Given the description of an element on the screen output the (x, y) to click on. 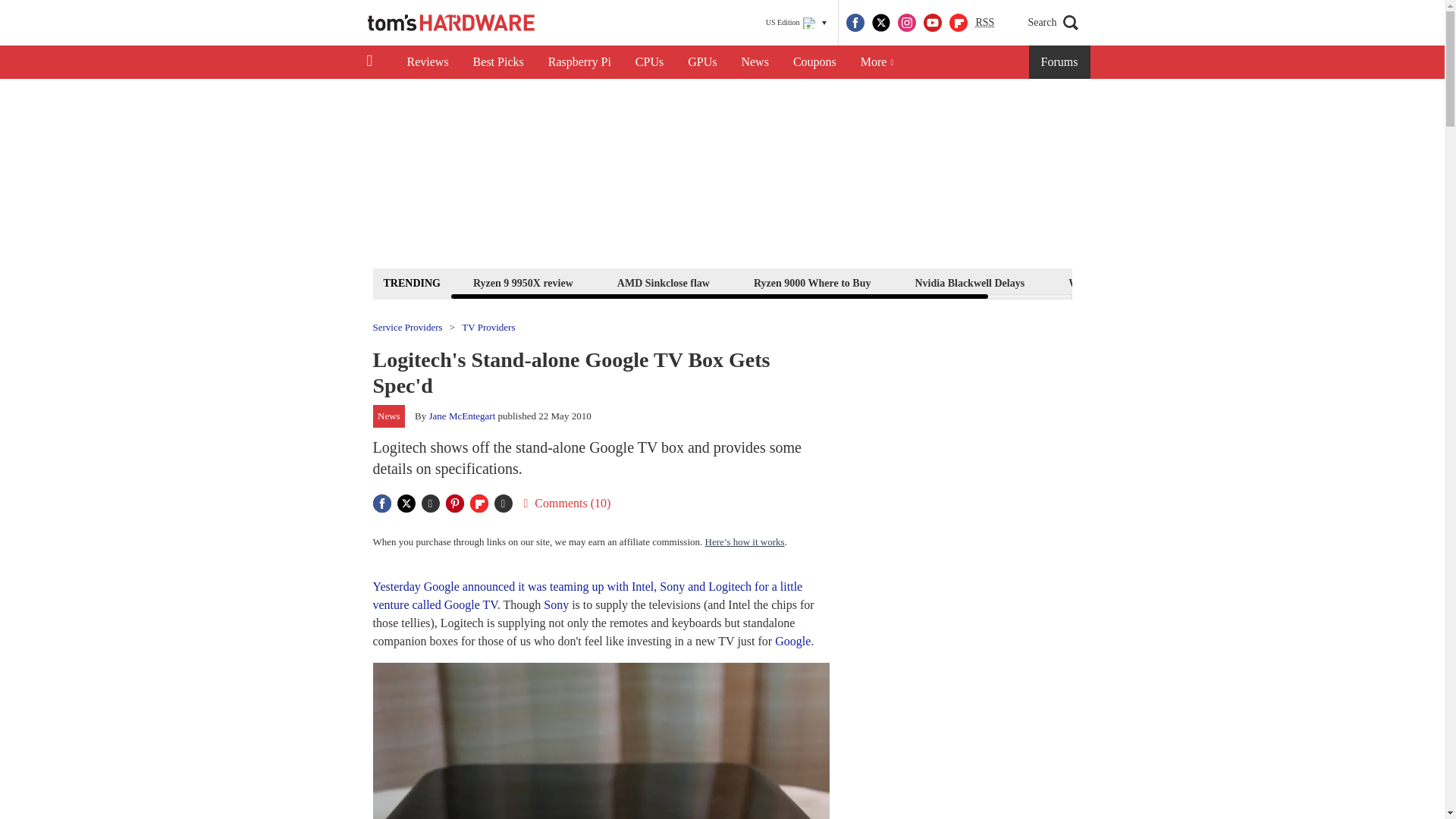
Best Picks (498, 61)
US Edition (796, 22)
Ryzen 9 9950X review (522, 282)
Really Simple Syndication (984, 21)
Reviews (427, 61)
CPUs (649, 61)
GPUs (702, 61)
Raspberry Pi (579, 61)
RSS (984, 22)
Forums (1059, 61)
